Given the description of an element on the screen output the (x, y) to click on. 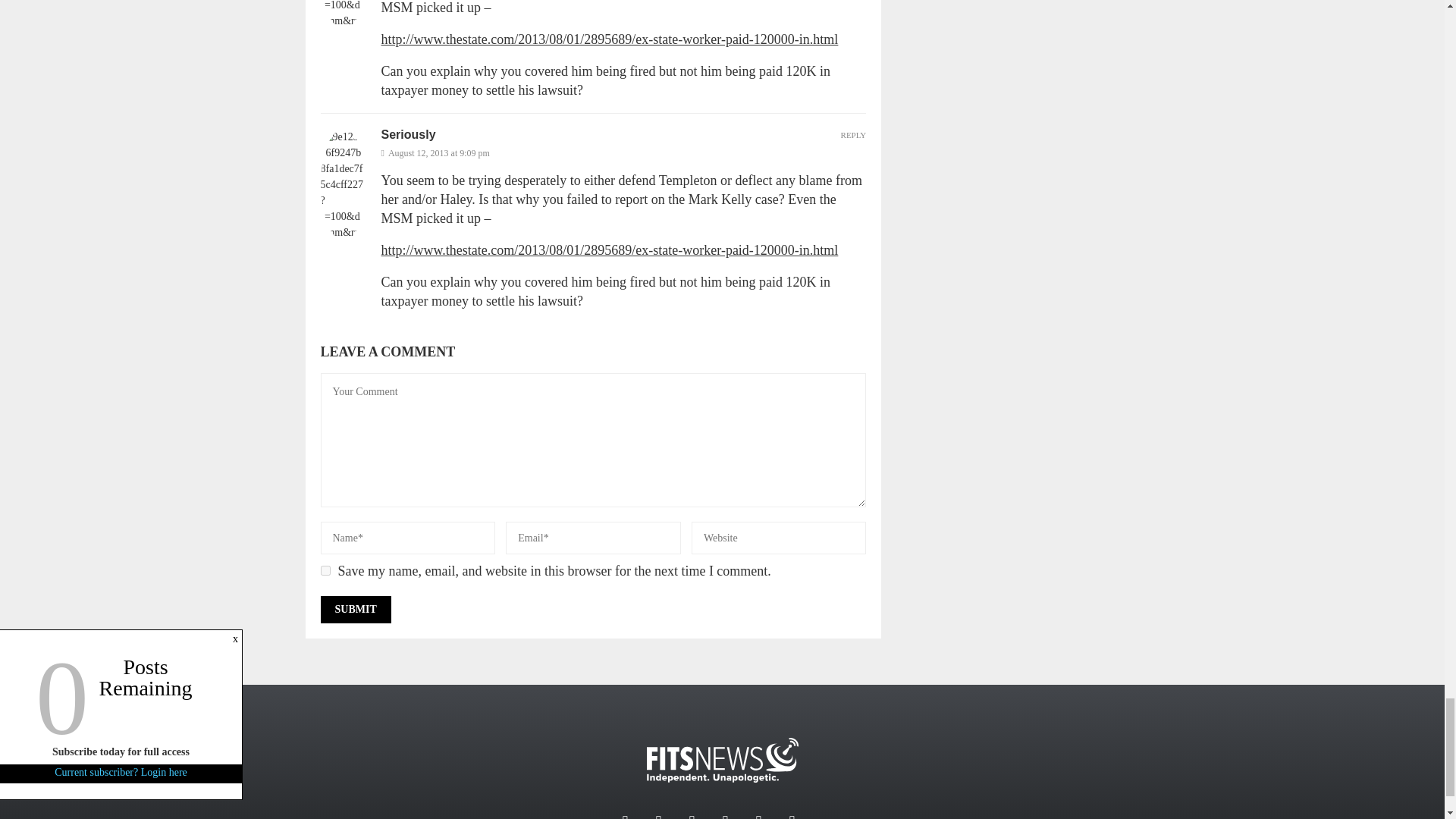
yes (325, 570)
Submit (355, 609)
